Given the description of an element on the screen output the (x, y) to click on. 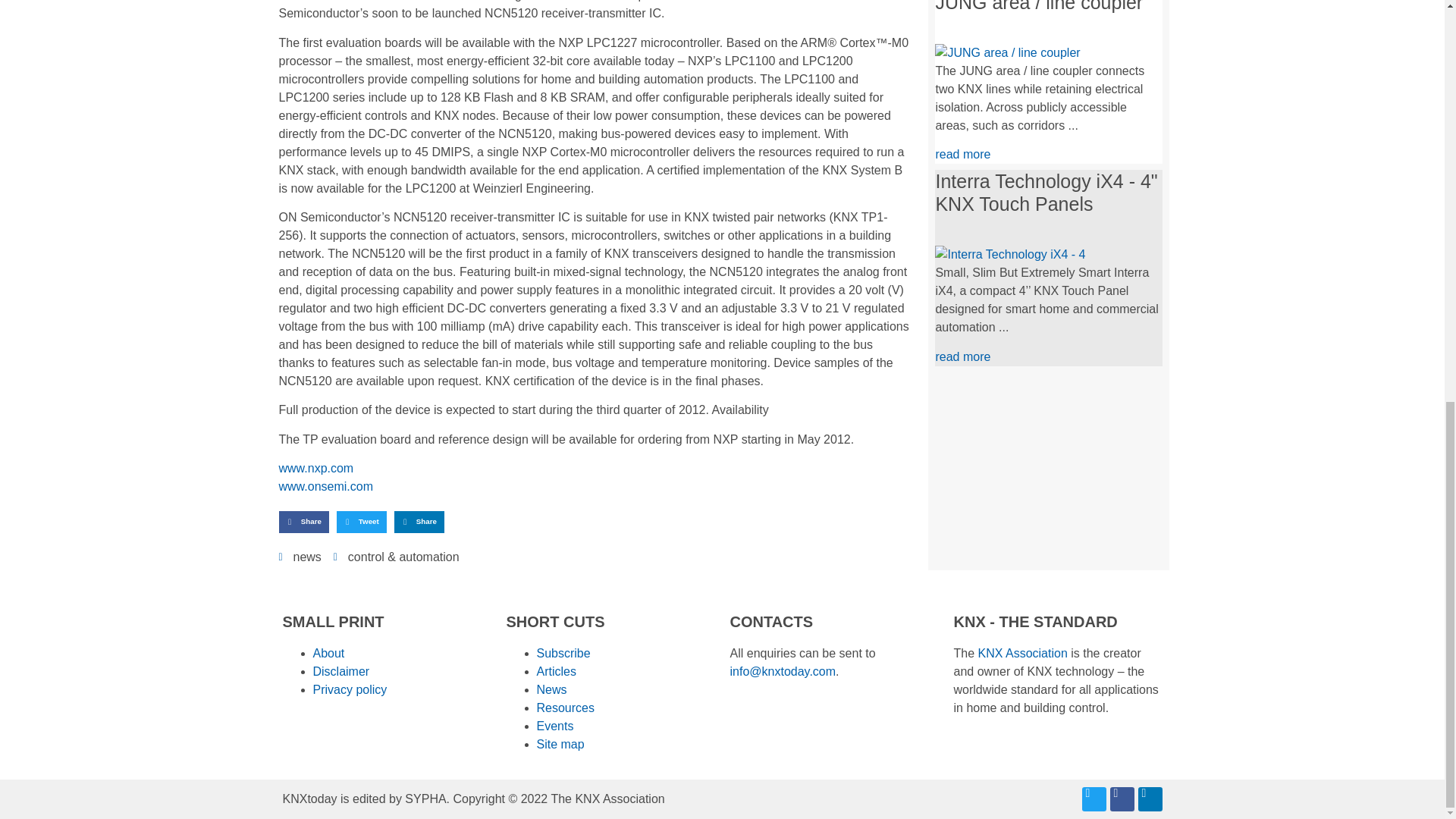
www.onsemi.com (325, 486)
Interra Technology iX4 - 4 (1009, 254)
news (306, 556)
www.nxp.com (316, 468)
Interra Technology iX4 - 4 (1009, 254)
